Given the description of an element on the screen output the (x, y) to click on. 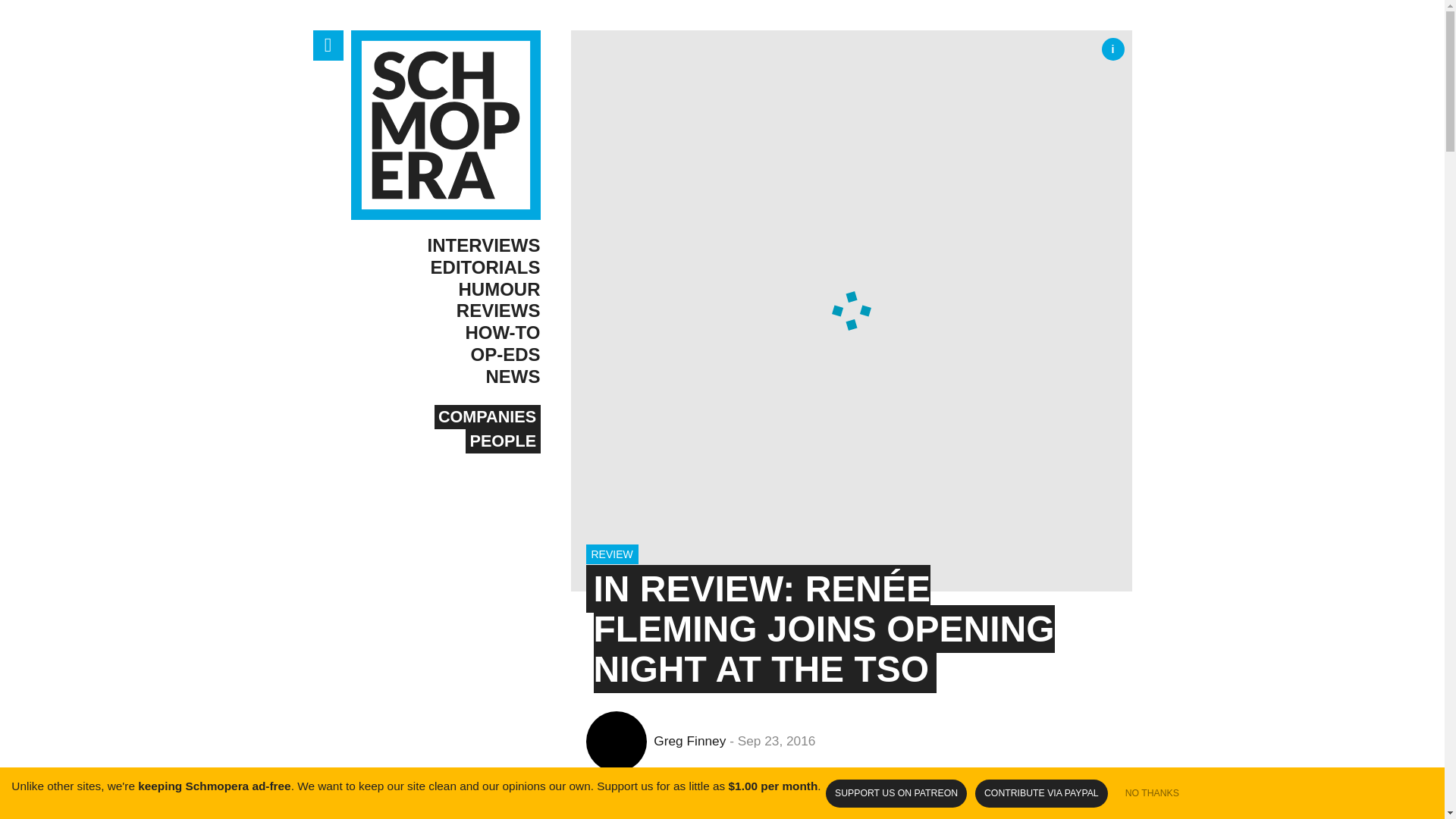
INTERVIEWS (445, 246)
Back to home page (445, 125)
HOW-TO (445, 332)
NEWS (445, 377)
COMPANIES (486, 416)
HUMOUR (445, 290)
Primary Navigation (327, 45)
EDITORIALS (445, 268)
PEOPLE (502, 441)
OP-EDS (445, 354)
REVIEWS (445, 311)
Greg Finney (651, 740)
